Given the description of an element on the screen output the (x, y) to click on. 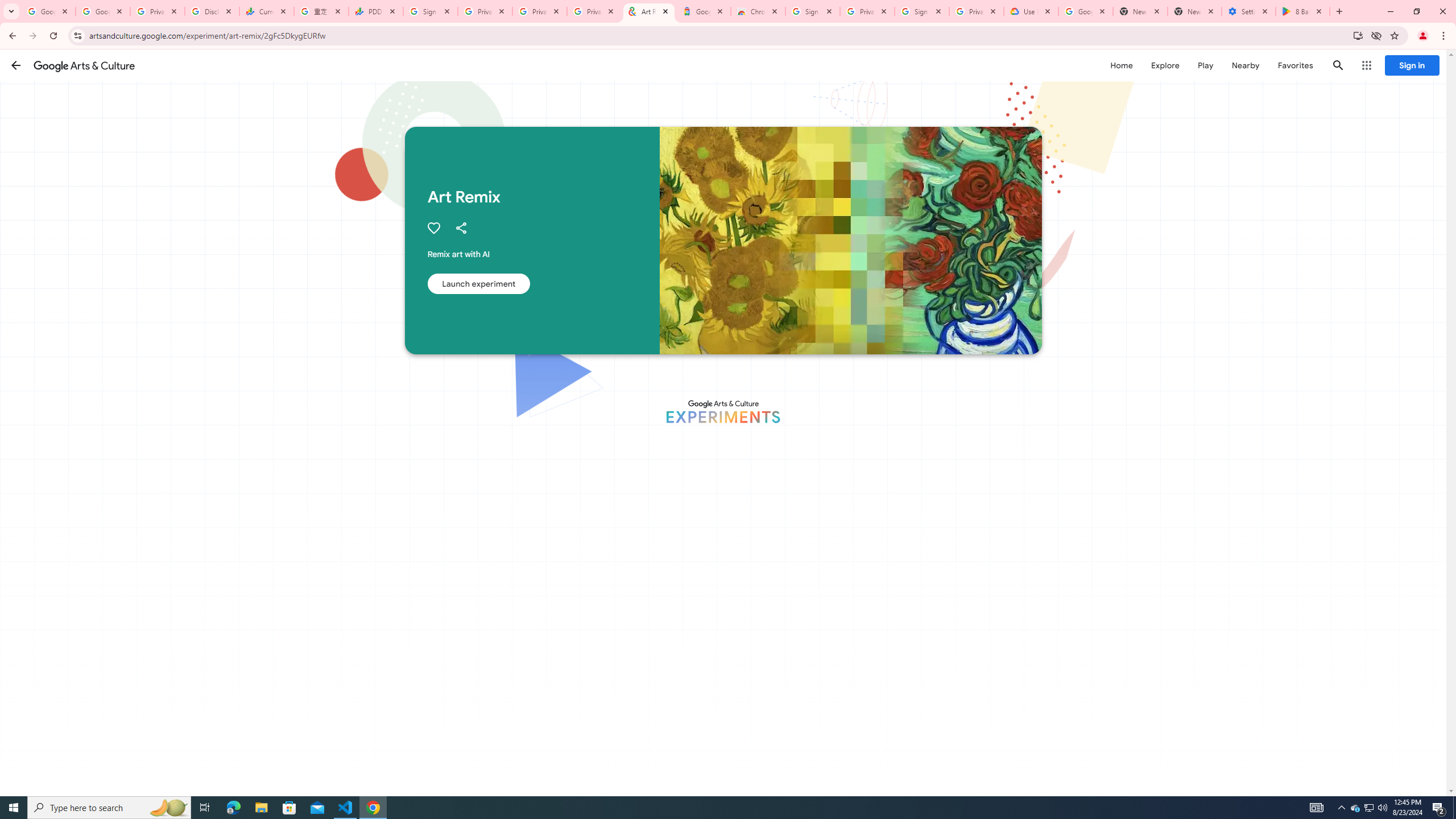
Explore (1164, 65)
8 Ball Pool - Apps on Google Play (1303, 11)
Authenticate to favorite this asset. (432, 227)
Nearby (1244, 65)
Chrome Web Store - Color themes by Chrome (757, 11)
Currencies - Google Finance (266, 11)
